Given the description of an element on the screen output the (x, y) to click on. 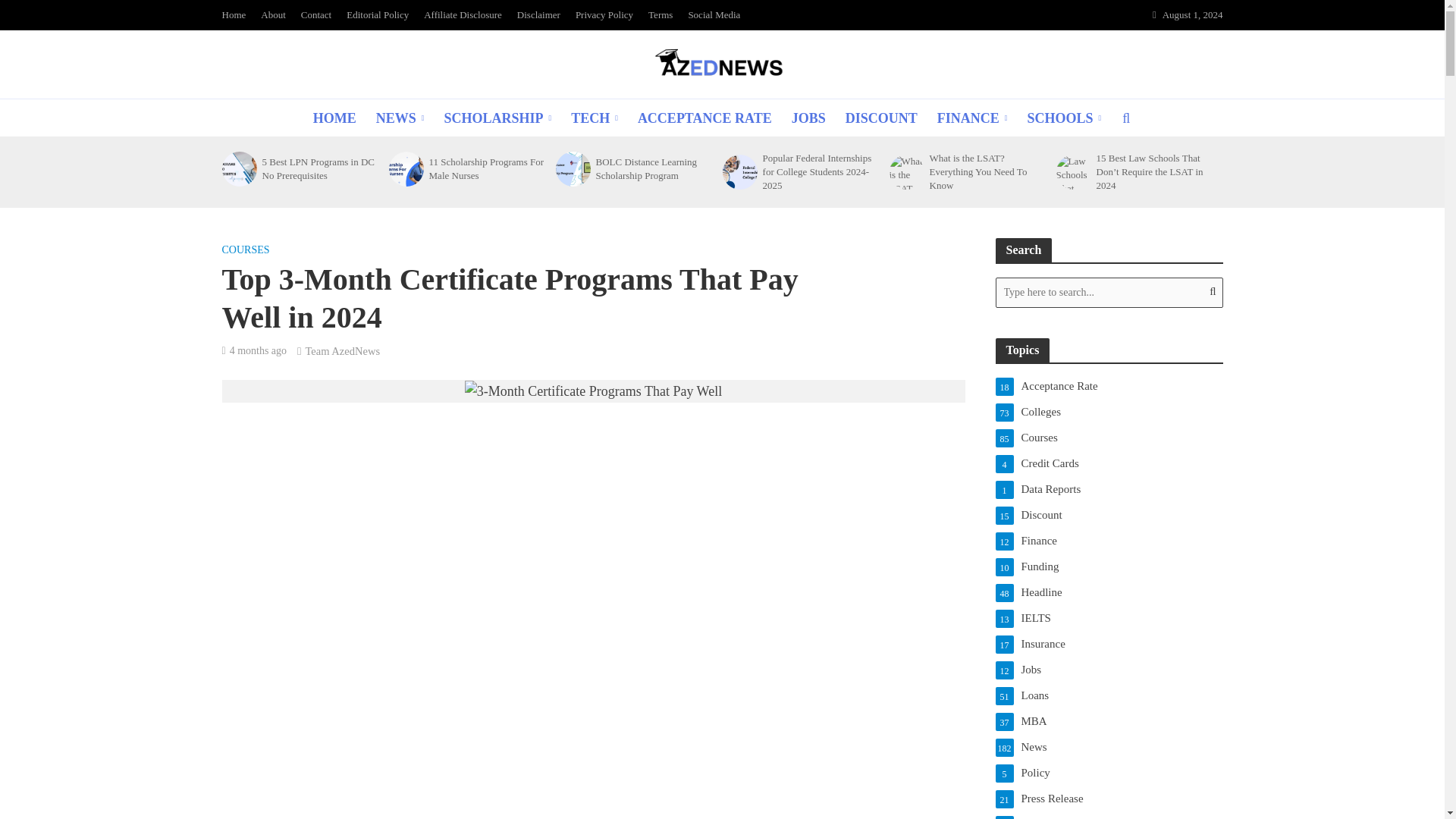
NEWS (399, 118)
FINANCE (972, 118)
JOBS (808, 118)
Contact (316, 15)
11 Scholarship Programs For Male Nurses (487, 168)
What is the LSAT? Everything You Need To Know (904, 171)
ACCEPTANCE RATE (704, 118)
5 Best LPN Programs in DC No Prerequisites (320, 168)
BOLC Distance Learning Scholarship Program (654, 168)
5 Best LPN Programs in DC No Prerequisites (237, 168)
Social Media (713, 15)
BOLC Distance Learning Scholarship Program (571, 168)
What is the LSAT? Everything You Need To Know (988, 171)
Editorial Policy (377, 15)
DISCOUNT (881, 118)
